Given the description of an element on the screen output the (x, y) to click on. 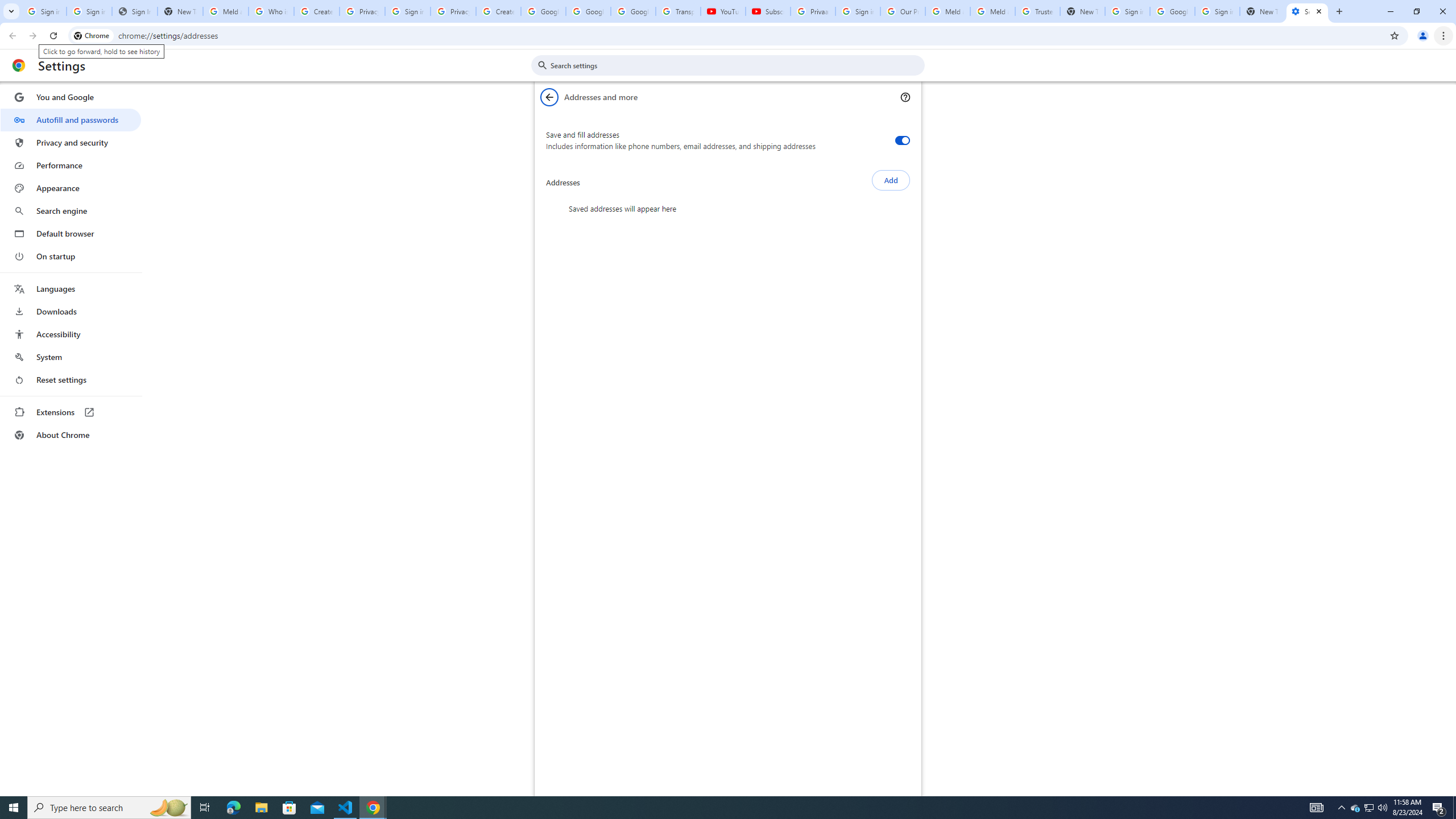
You and Google (70, 96)
Sign in - Google Accounts (857, 11)
Search engine (70, 210)
Extensions (70, 412)
New Tab (1262, 11)
Sign in - Google Accounts (407, 11)
Appearance (70, 187)
Downloads (70, 311)
